Given the description of an element on the screen output the (x, y) to click on. 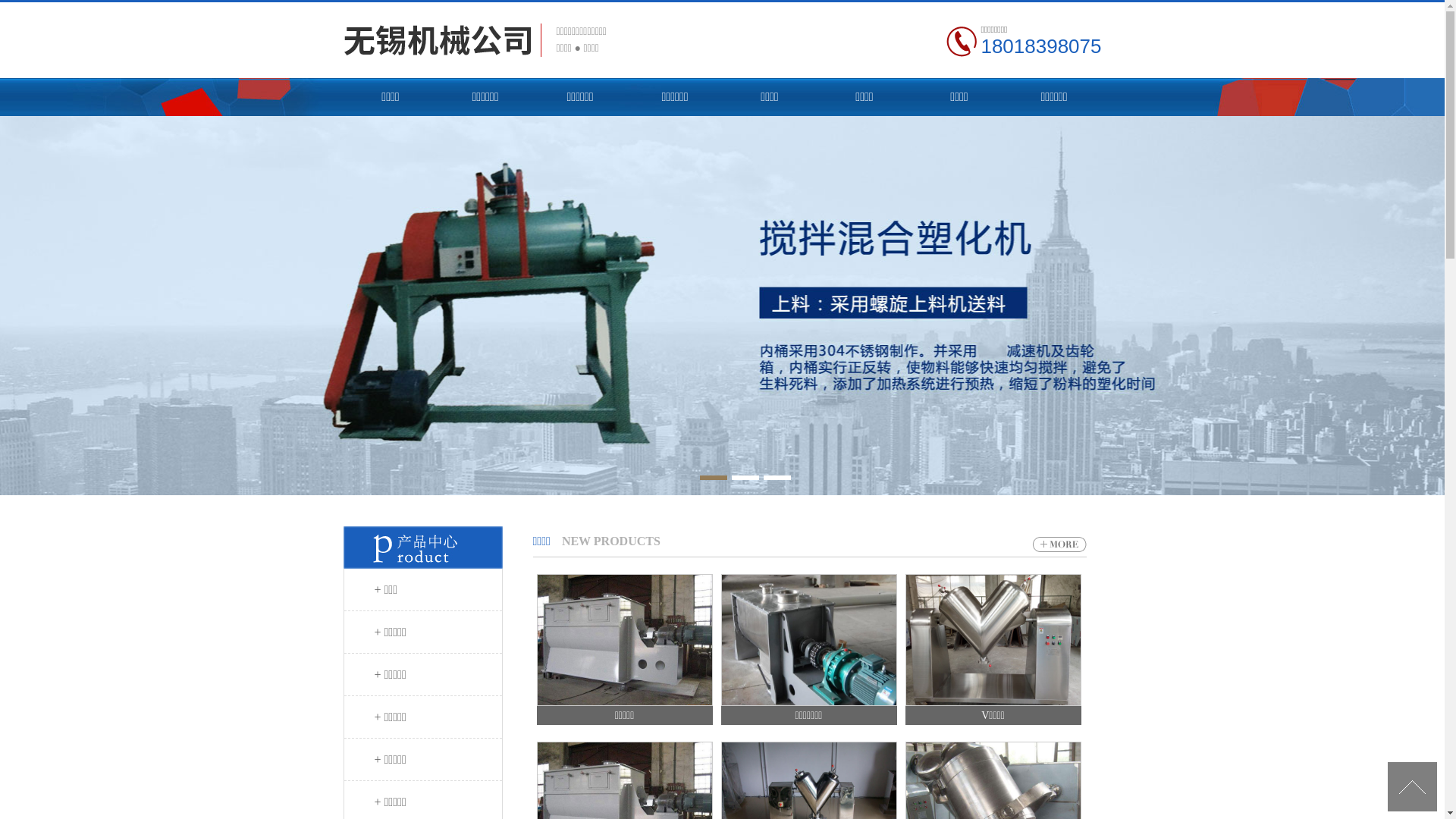
[UP] Element type: text (1412, 786)
